Given the description of an element on the screen output the (x, y) to click on. 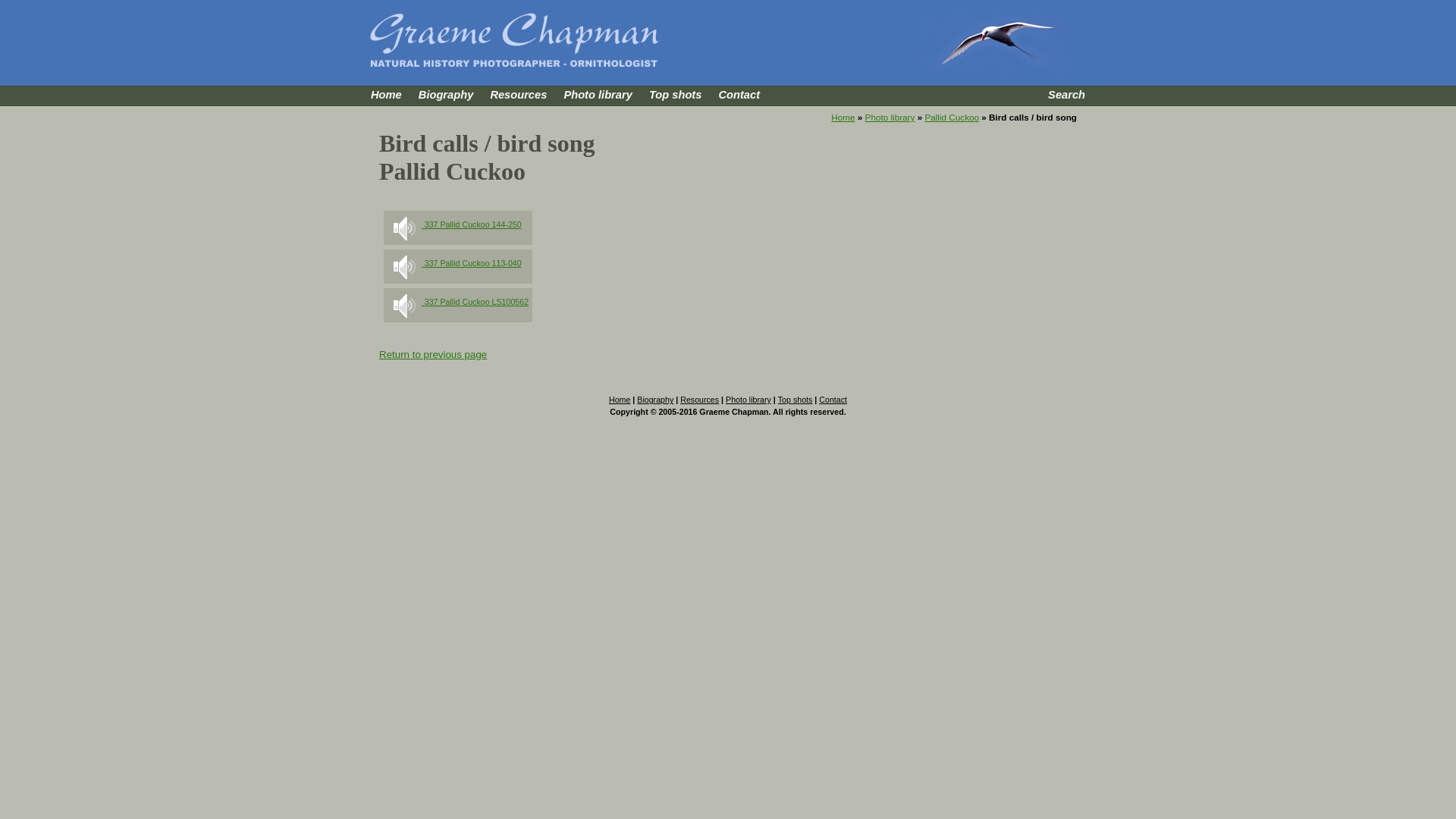
Photo library Element type: text (748, 399)
Home Element type: text (386, 94)
Biography Element type: text (445, 94)
Top shots Element type: text (795, 399)
337 Pallid Cuckoo 113-040 Element type: text (454, 262)
Biography Element type: text (655, 399)
Contact Element type: text (833, 399)
Return to previous page Element type: text (432, 354)
Photo library Element type: text (890, 117)
Resources Element type: text (699, 399)
Photo library Element type: text (597, 94)
Contact Element type: text (738, 94)
Pallid Cuckoo Element type: text (951, 117)
Resources Element type: text (518, 94)
Home Element type: text (842, 117)
337 Pallid Cuckoo LS100562 Element type: text (457, 301)
Search Element type: text (1066, 94)
Home Element type: text (619, 399)
337 Pallid Cuckoo 144-250 Element type: text (454, 223)
Top shots Element type: text (675, 94)
